Given the description of an element on the screen output the (x, y) to click on. 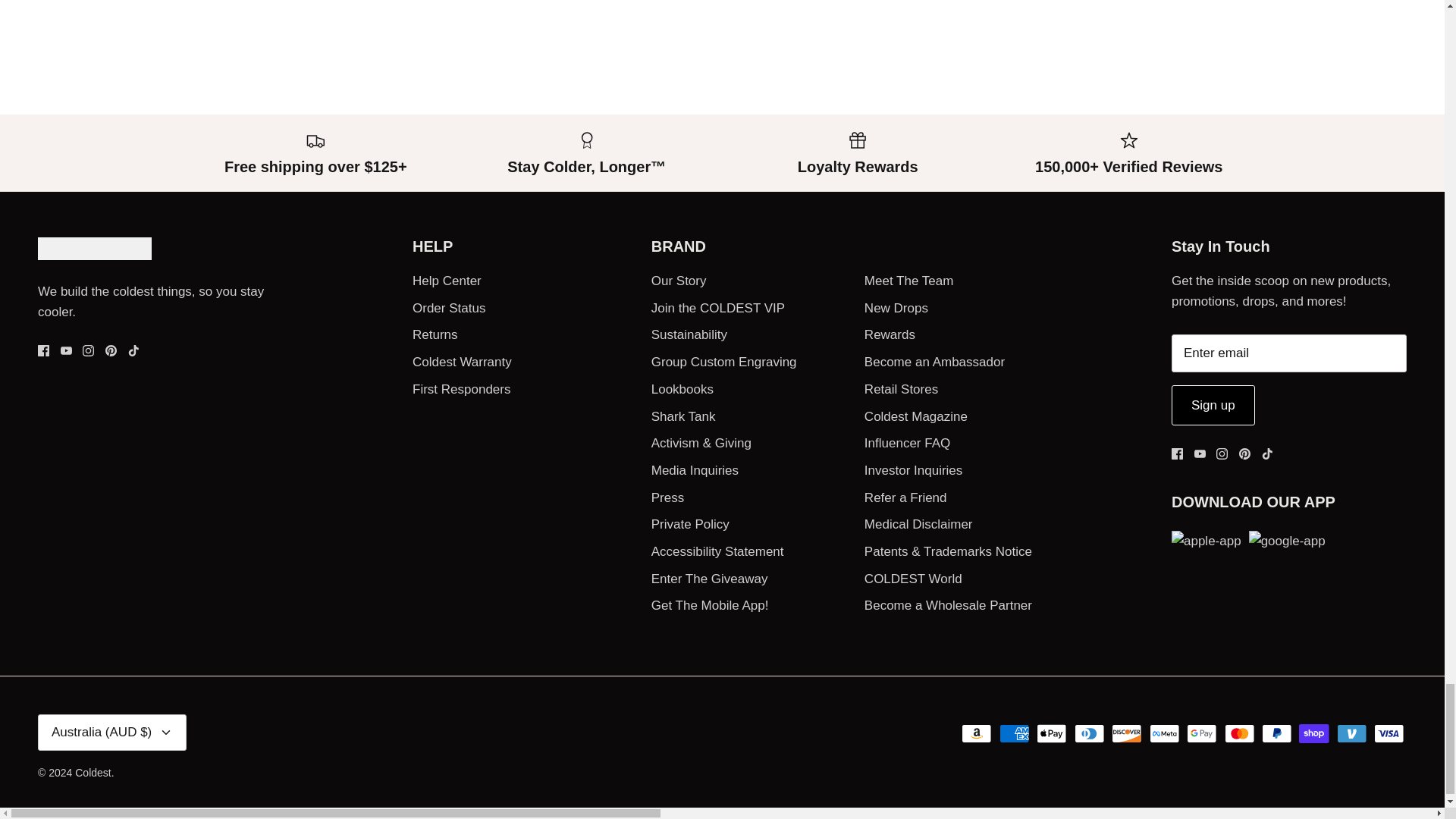
Youtube (1199, 453)
Instagram (88, 350)
Pinterest (1244, 453)
Amazon (975, 732)
Pinterest (110, 350)
American Express (1013, 732)
Apple Pay (1051, 732)
Facebook (1177, 453)
Facebook (43, 350)
Instagram (1221, 453)
